Given the description of an element on the screen output the (x, y) to click on. 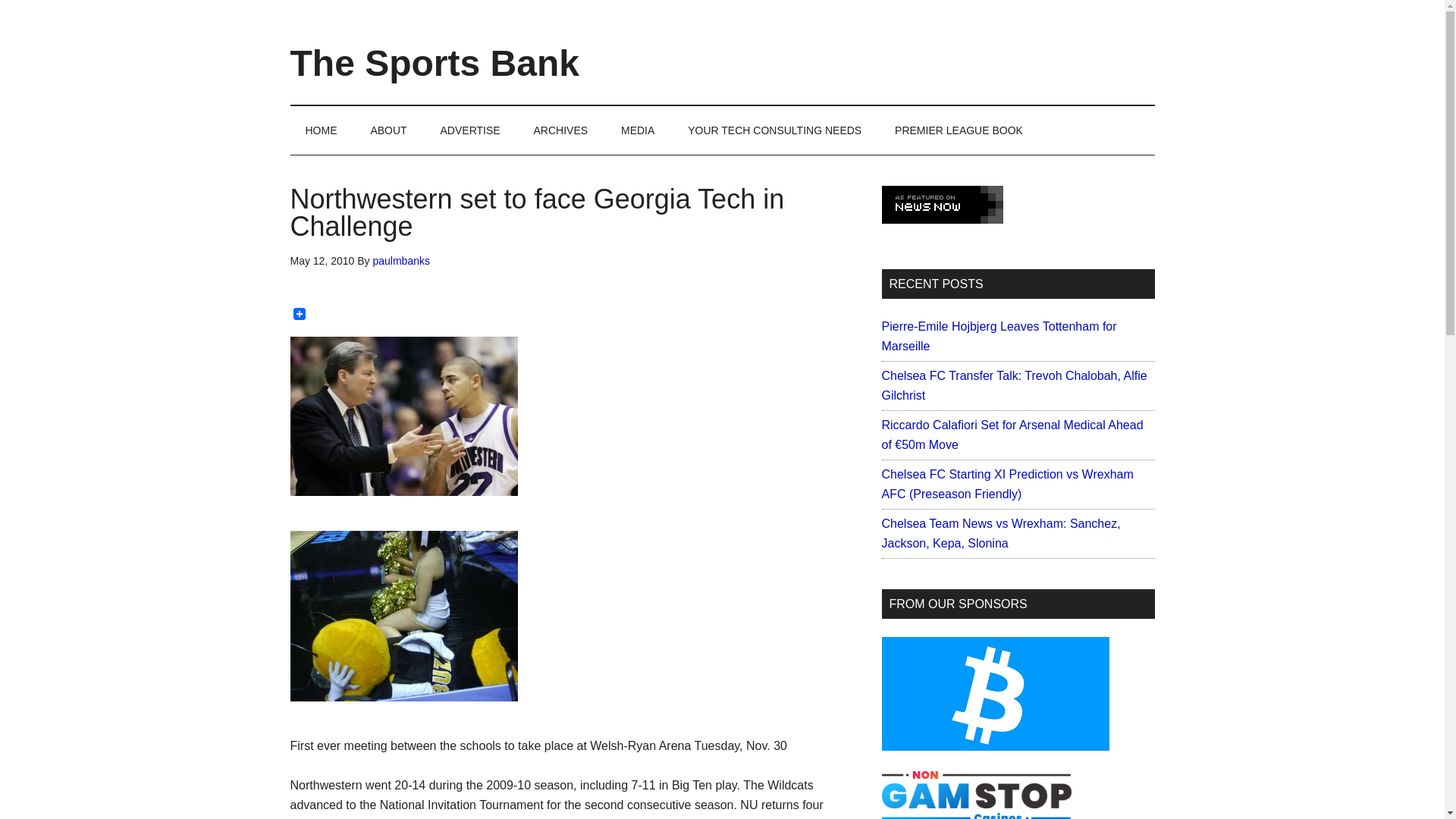
Northwestern Preview Basketball (402, 416)
MEDIA (637, 130)
The Sports Bank (433, 63)
ABOUT (388, 130)
HOME (320, 130)
ADVERTISE (470, 130)
YOUR TECH CONSULTING NEEDS (774, 130)
ARCHIVES (561, 130)
paulmbanks (400, 260)
buzzlayingdown (402, 615)
PREMIER LEAGUE BOOK (958, 130)
